Given the description of an element on the screen output the (x, y) to click on. 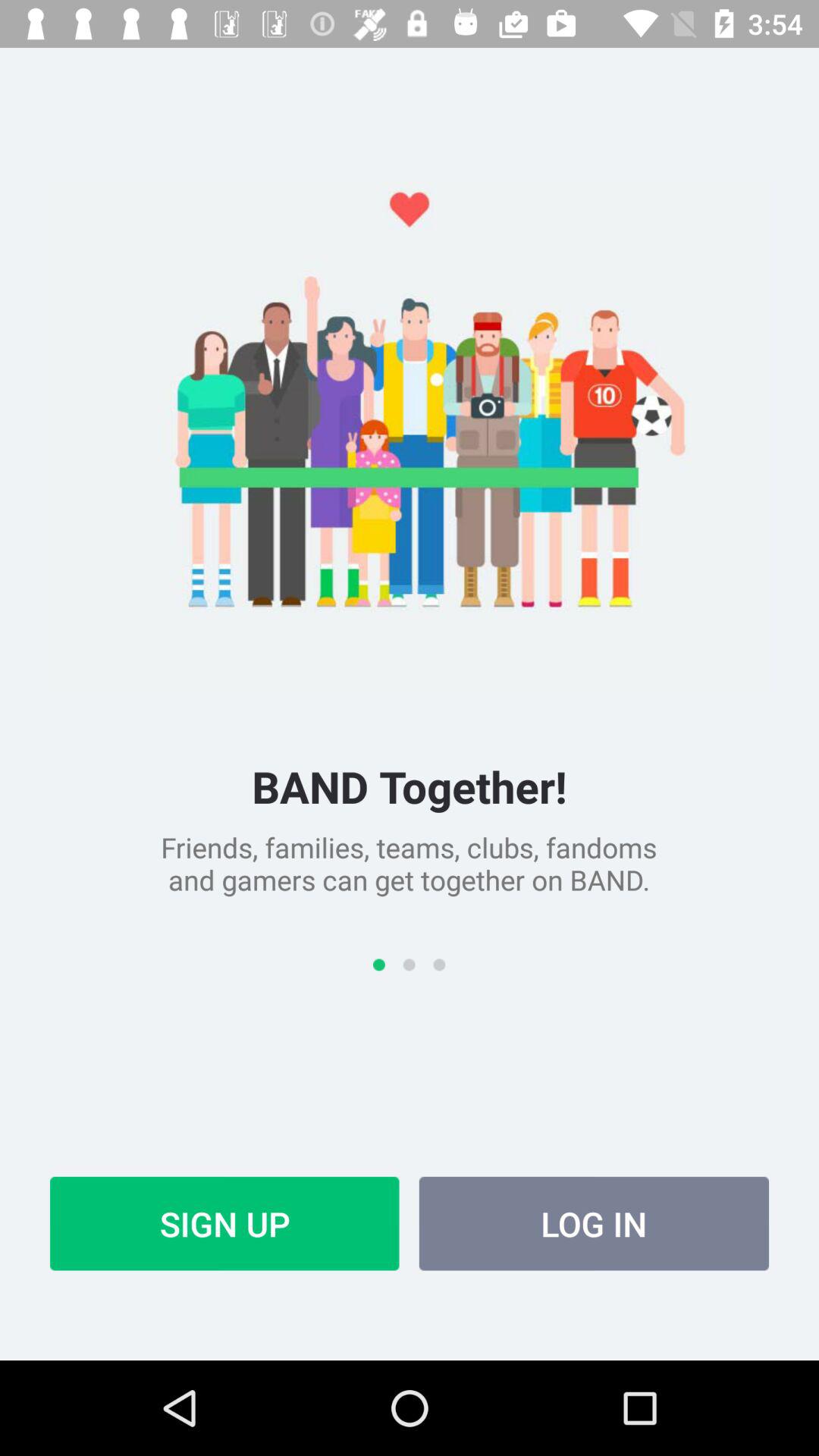
tap item to the right of sign up icon (593, 1223)
